Given the description of an element on the screen output the (x, y) to click on. 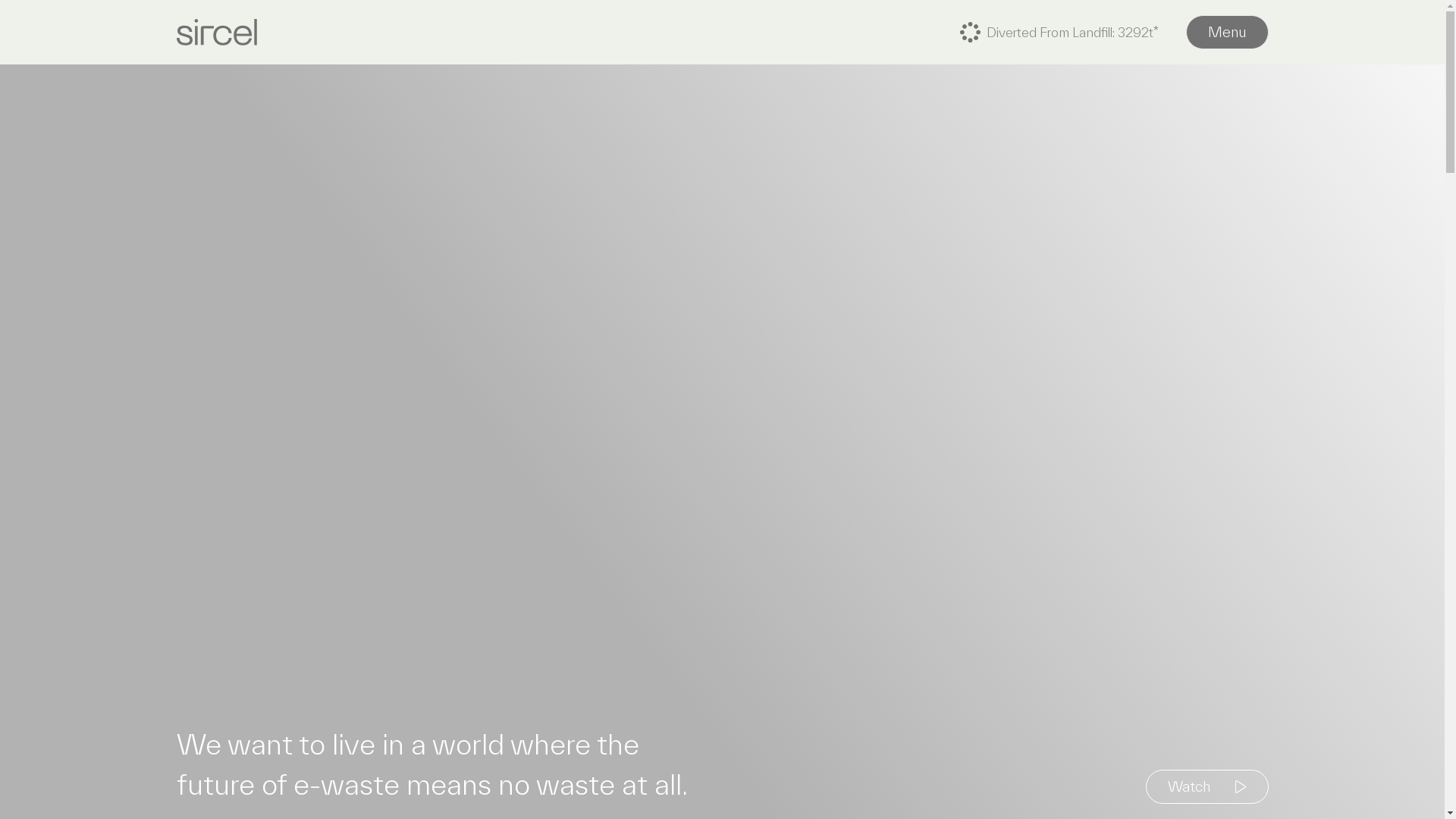
Menu Element type: text (1227, 32)
Watch Element type: text (1206, 786)
Diverted From Landfill: Element type: text (1158, 31)
